Given the description of an element on the screen output the (x, y) to click on. 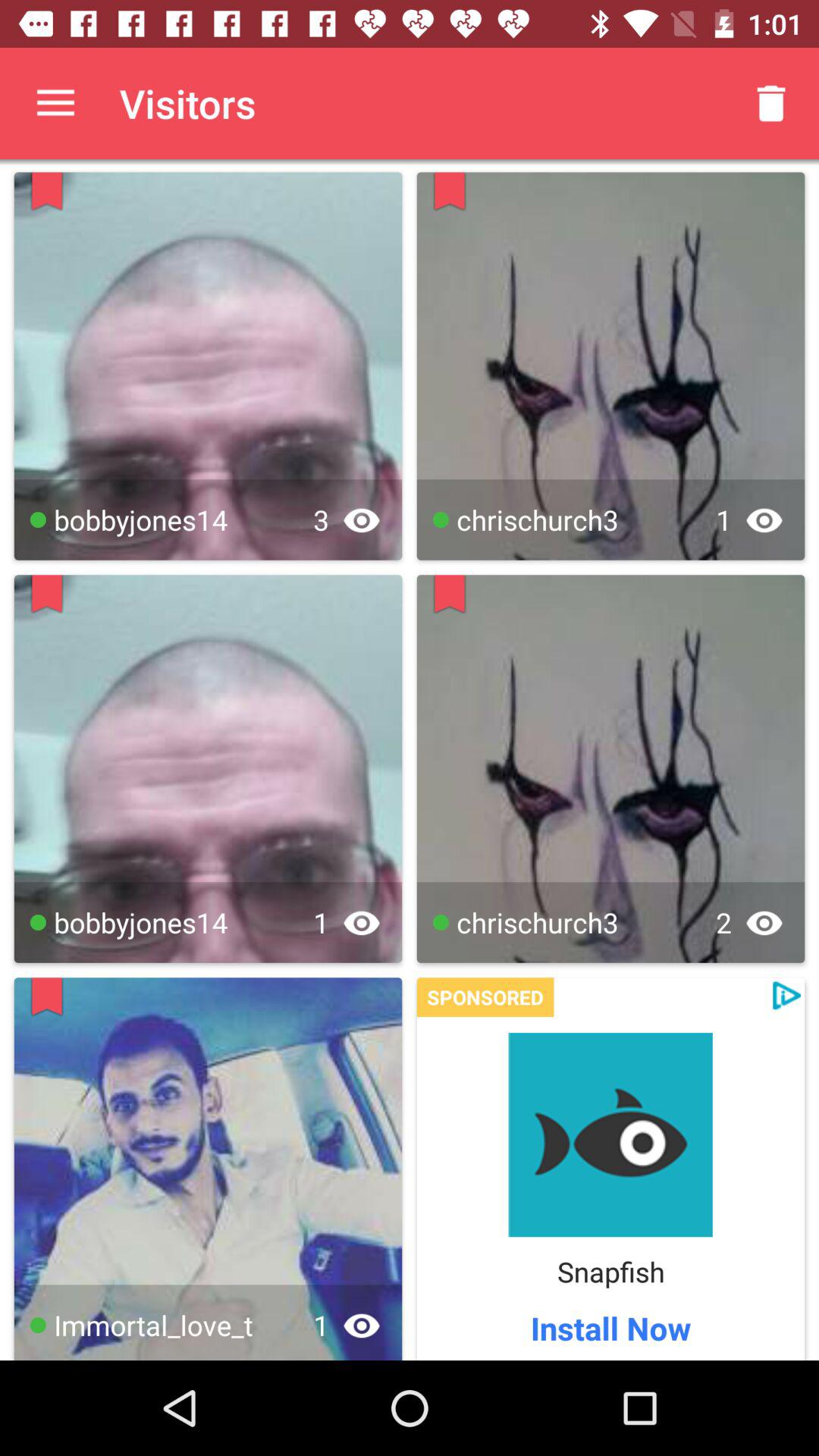
open the app next to the visitors item (55, 103)
